Given the description of an element on the screen output the (x, y) to click on. 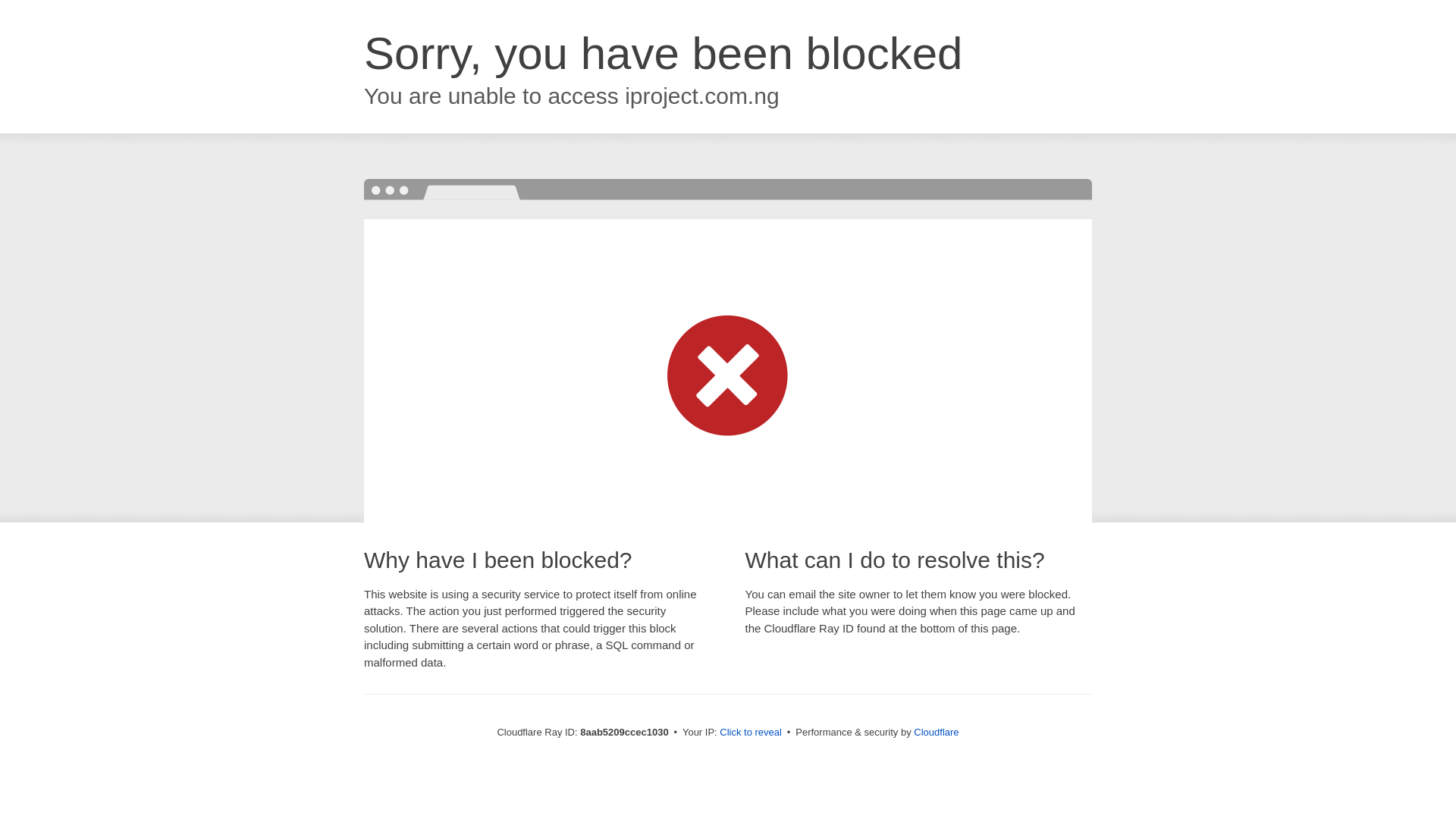
Cloudflare (936, 731)
Click to reveal (750, 732)
